Given the description of an element on the screen output the (x, y) to click on. 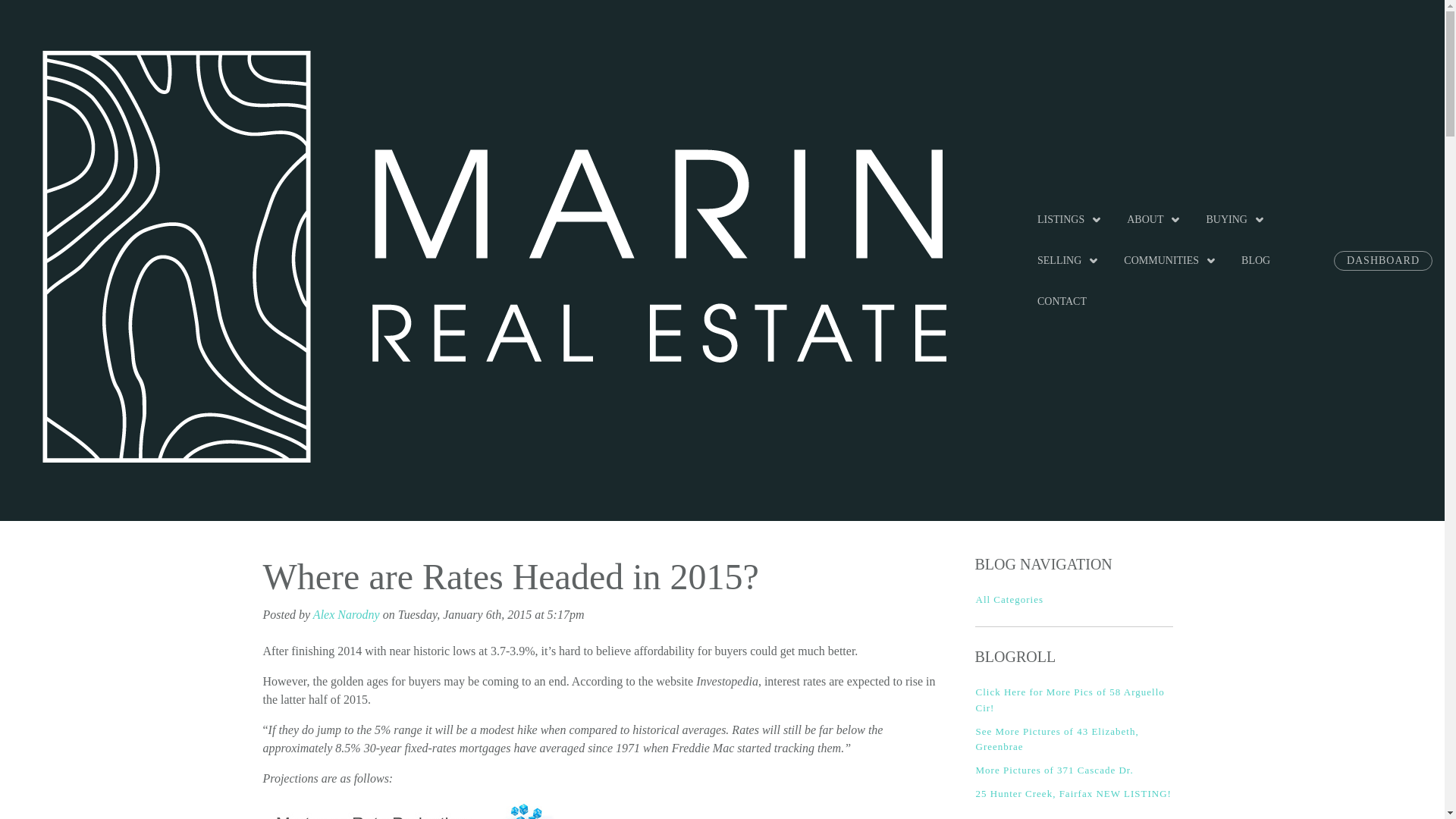
Opens and Closes My Account (1382, 260)
ABOUT (1154, 219)
SELLING (1068, 259)
LISTINGS (1070, 219)
BUYING (1234, 219)
Alex Narodny (346, 614)
COMMUNITIES (1170, 259)
